Given the description of an element on the screen output the (x, y) to click on. 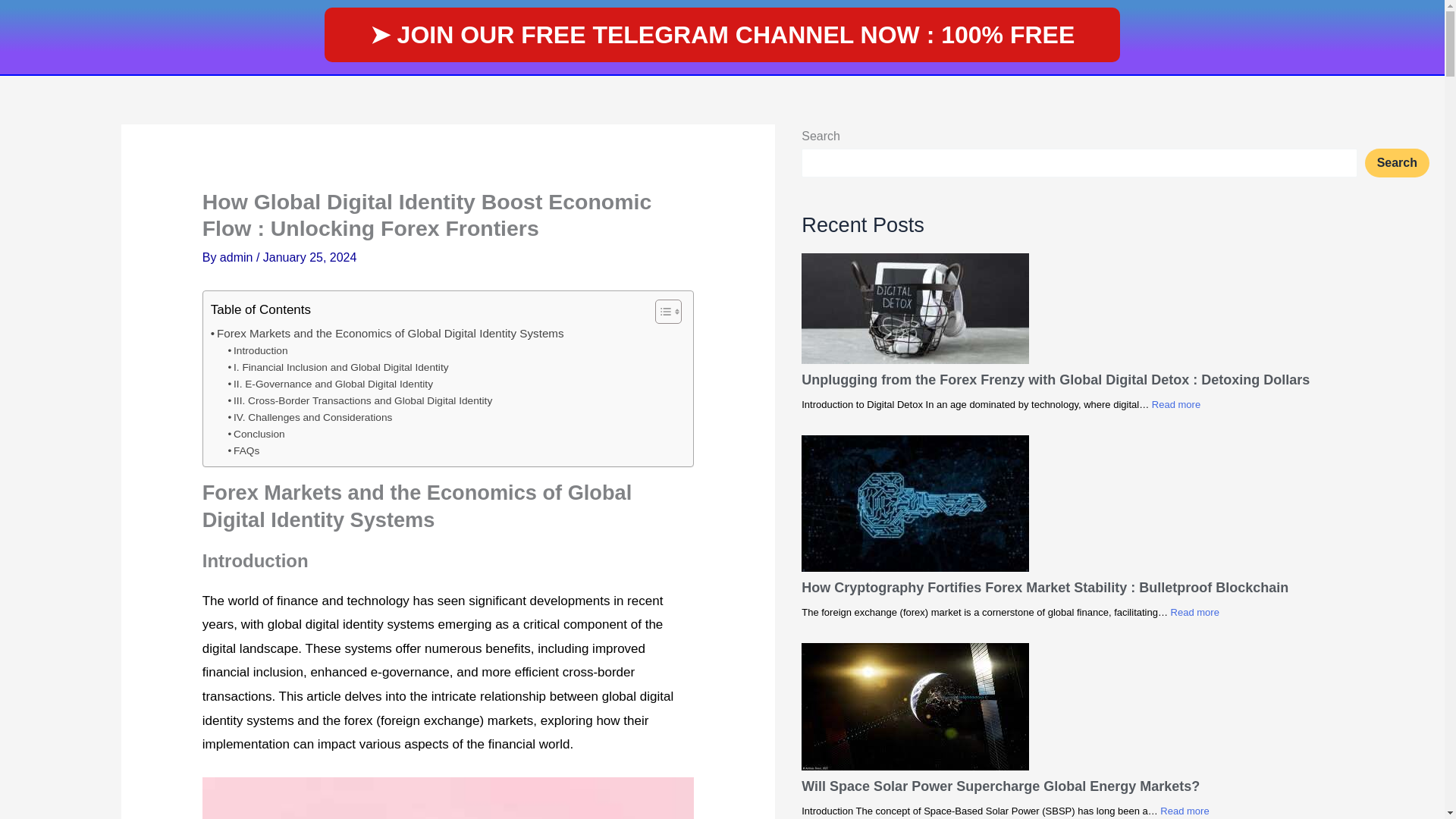
II. E-Governance and Global Digital Identity (330, 384)
Will Space Solar Power Supercharge Global Energy Markets? (1000, 785)
admin (237, 256)
Conclusion (256, 434)
Introduction (258, 351)
II. E-Governance and Global Digital Identity (330, 384)
I. Financial Inclusion and Global Digital Identity (338, 367)
